Given the description of an element on the screen output the (x, y) to click on. 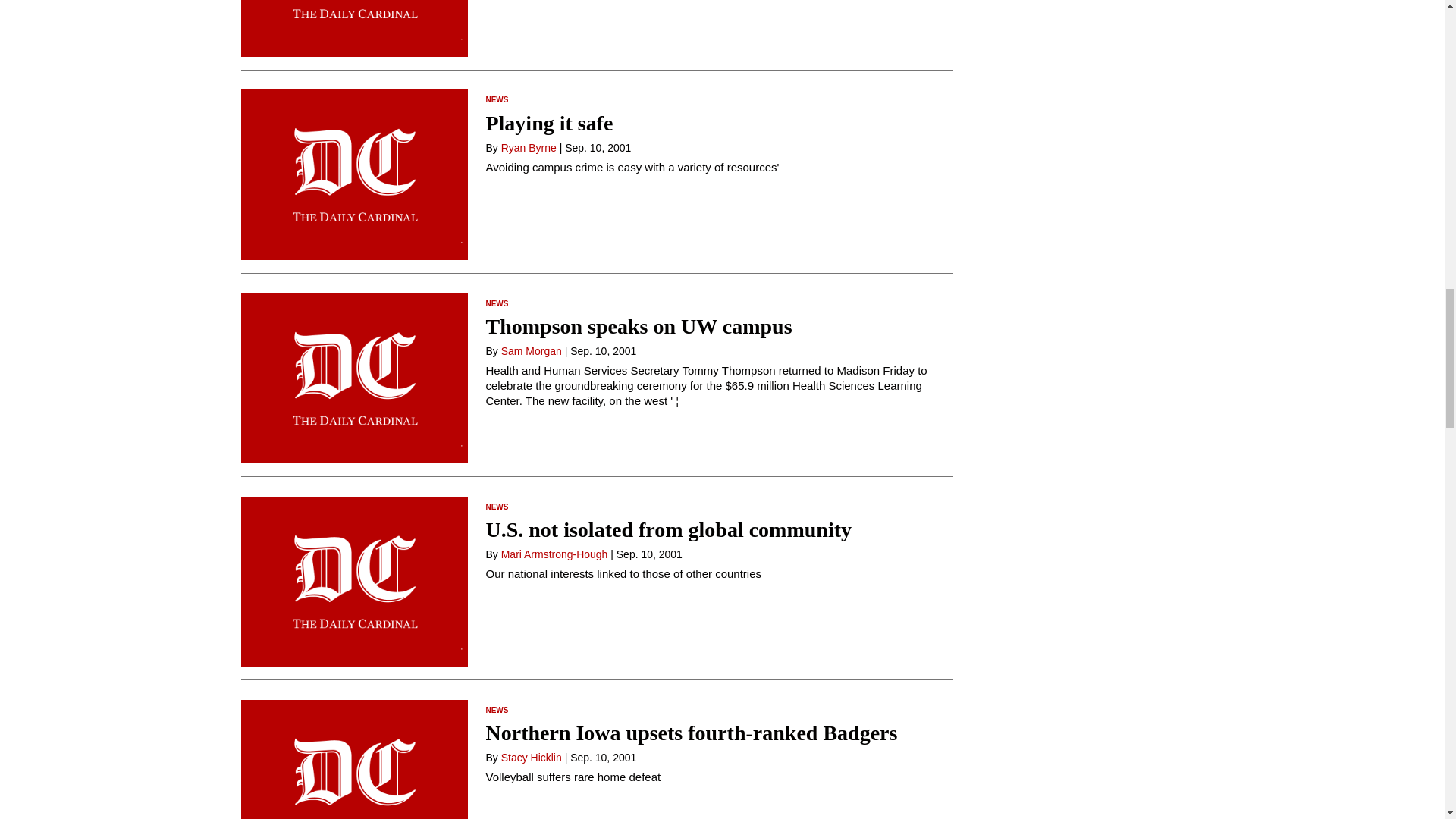
Thompson speaks on UW campus (638, 326)
Northern Iowa upsets fourth-ranked Badgers (690, 732)
U.S. not isolated from global community (667, 529)
Playing it safe (548, 123)
